Given the description of an element on the screen output the (x, y) to click on. 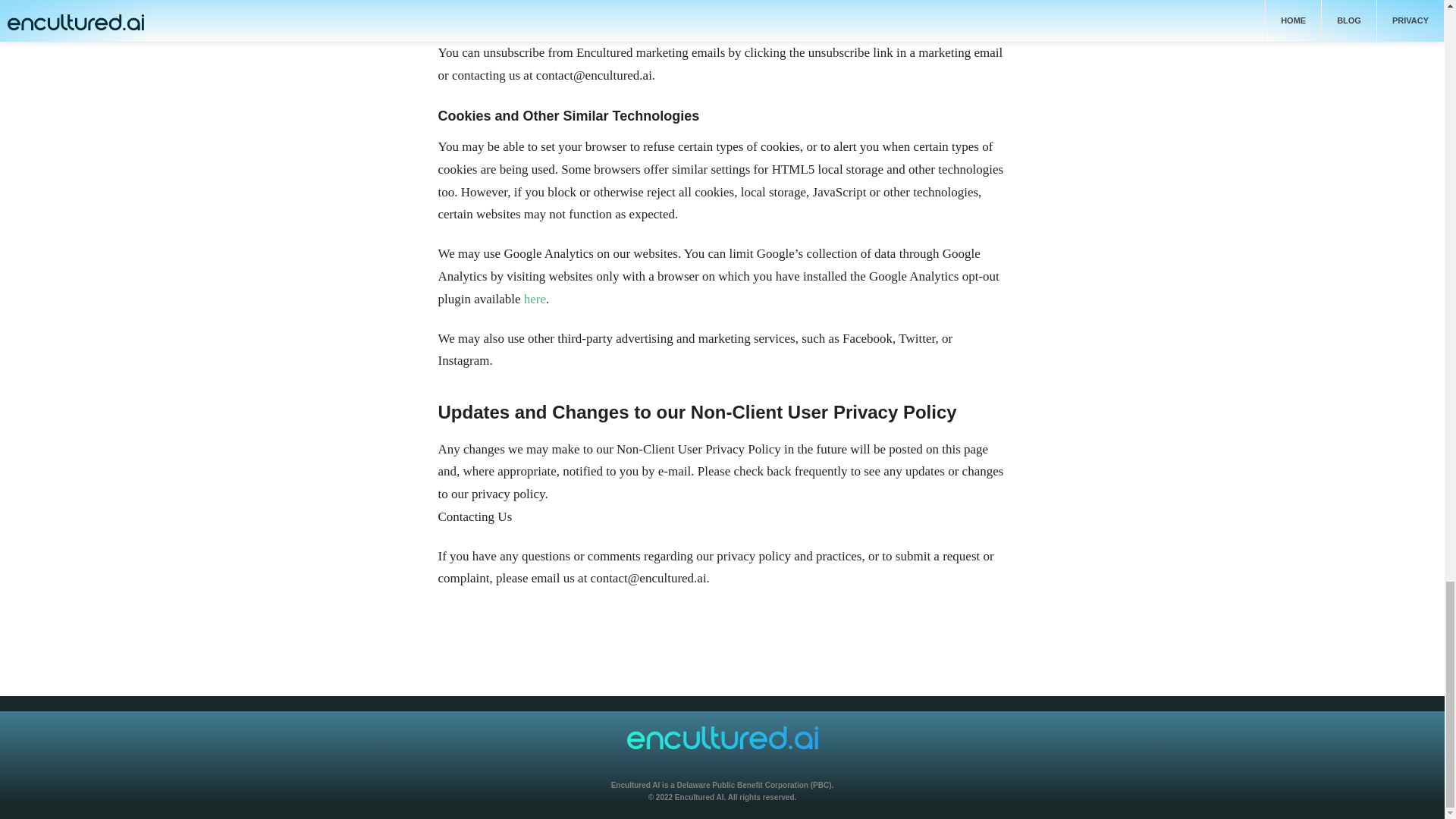
here (535, 298)
